Given the description of an element on the screen output the (x, y) to click on. 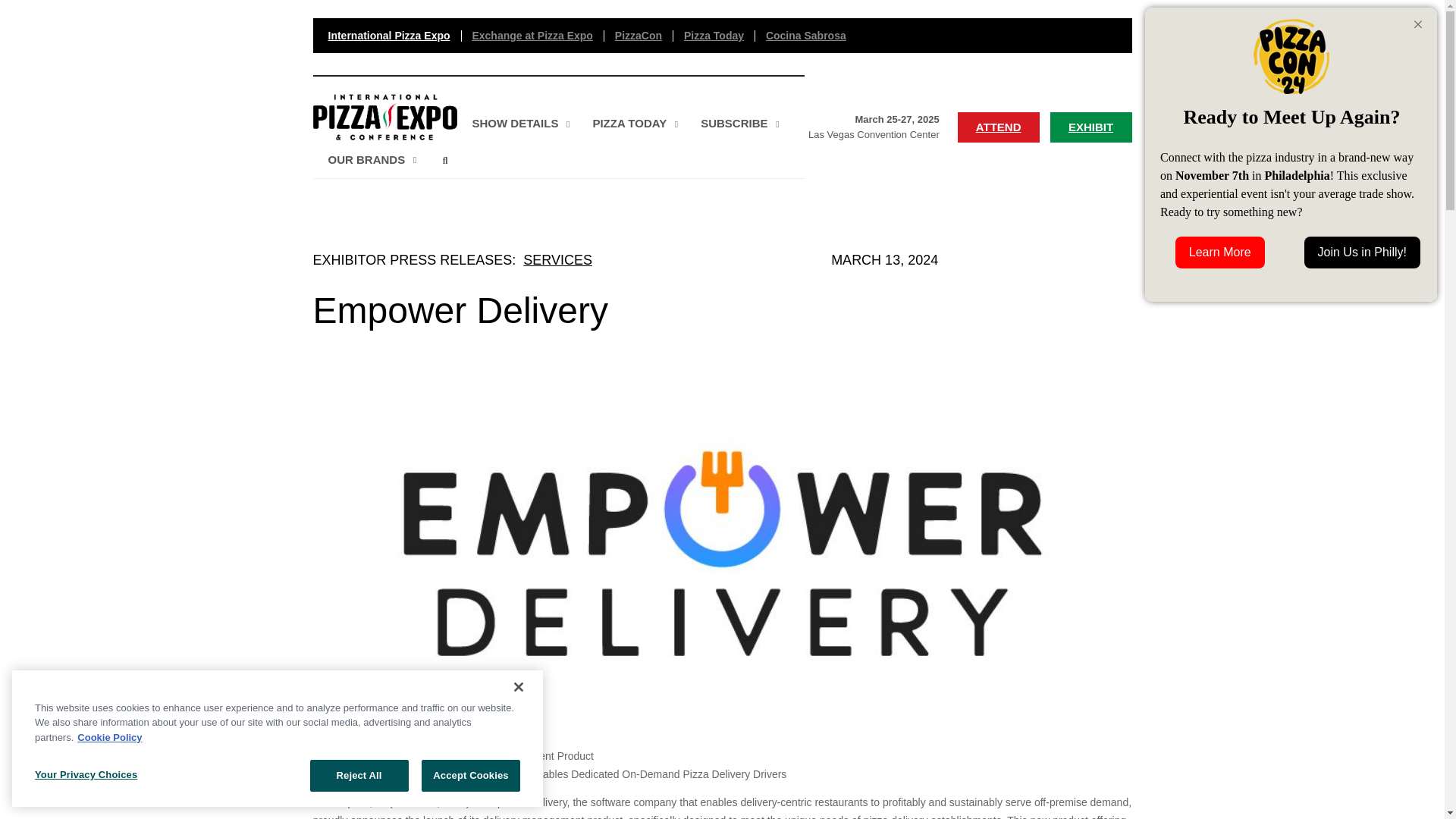
Pizza Today (714, 35)
SHOW DETAILS (558, 127)
PizzaCon (516, 124)
International Pizza Expo (638, 35)
Exchange at Pizza Expo (388, 35)
Cocina Sabrosa (531, 35)
